Given the description of an element on the screen output the (x, y) to click on. 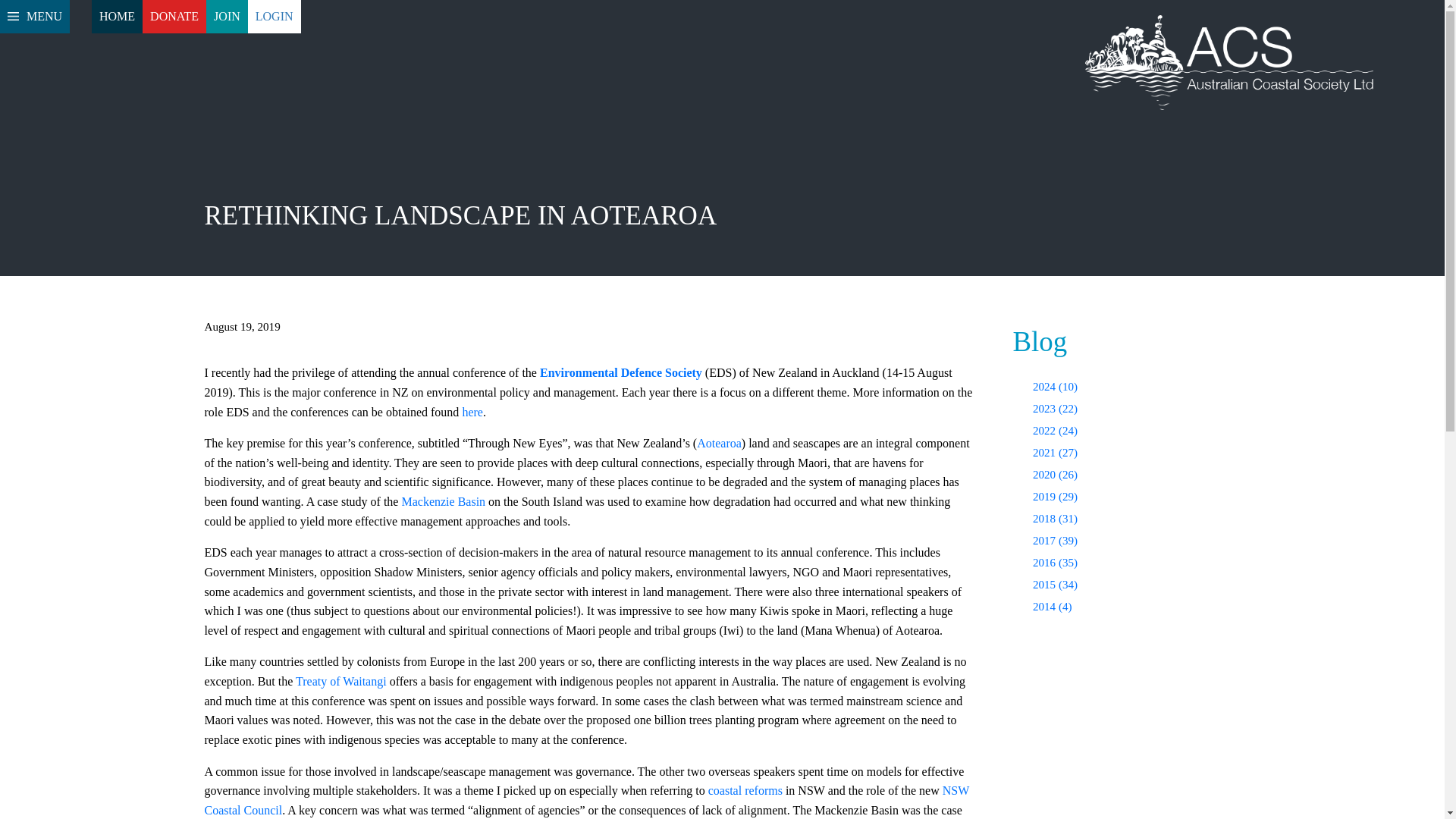
DONATE (174, 16)
JOIN (226, 16)
HOME (116, 16)
LOGIN (274, 16)
MackenzieBasin (442, 501)
NSWCoastalFramework (745, 789)
Treaty (341, 680)
MENU (34, 16)
NSWCoastalCouncil (587, 799)
EDS NZ (620, 372)
Aotearoa (719, 442)
EDSConference (472, 411)
